Given the description of an element on the screen output the (x, y) to click on. 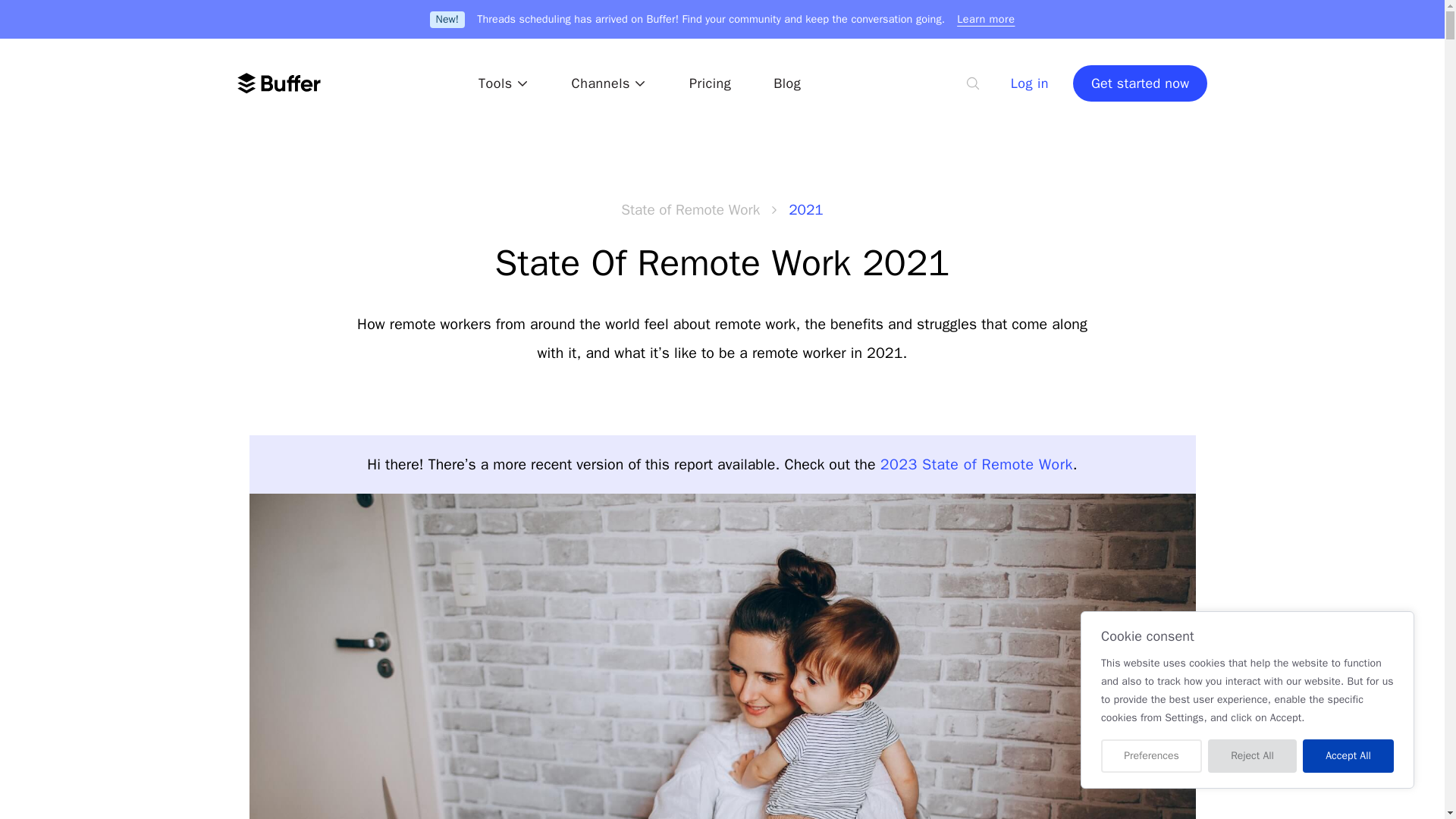
Pricing (709, 83)
Accept All (1348, 756)
Search for blog articles (973, 83)
Log in (1029, 83)
Tools (504, 83)
Preferences (1151, 756)
Blog (786, 83)
Channels (609, 83)
Reject All (1252, 756)
Learn more (985, 19)
